Given the description of an element on the screen output the (x, y) to click on. 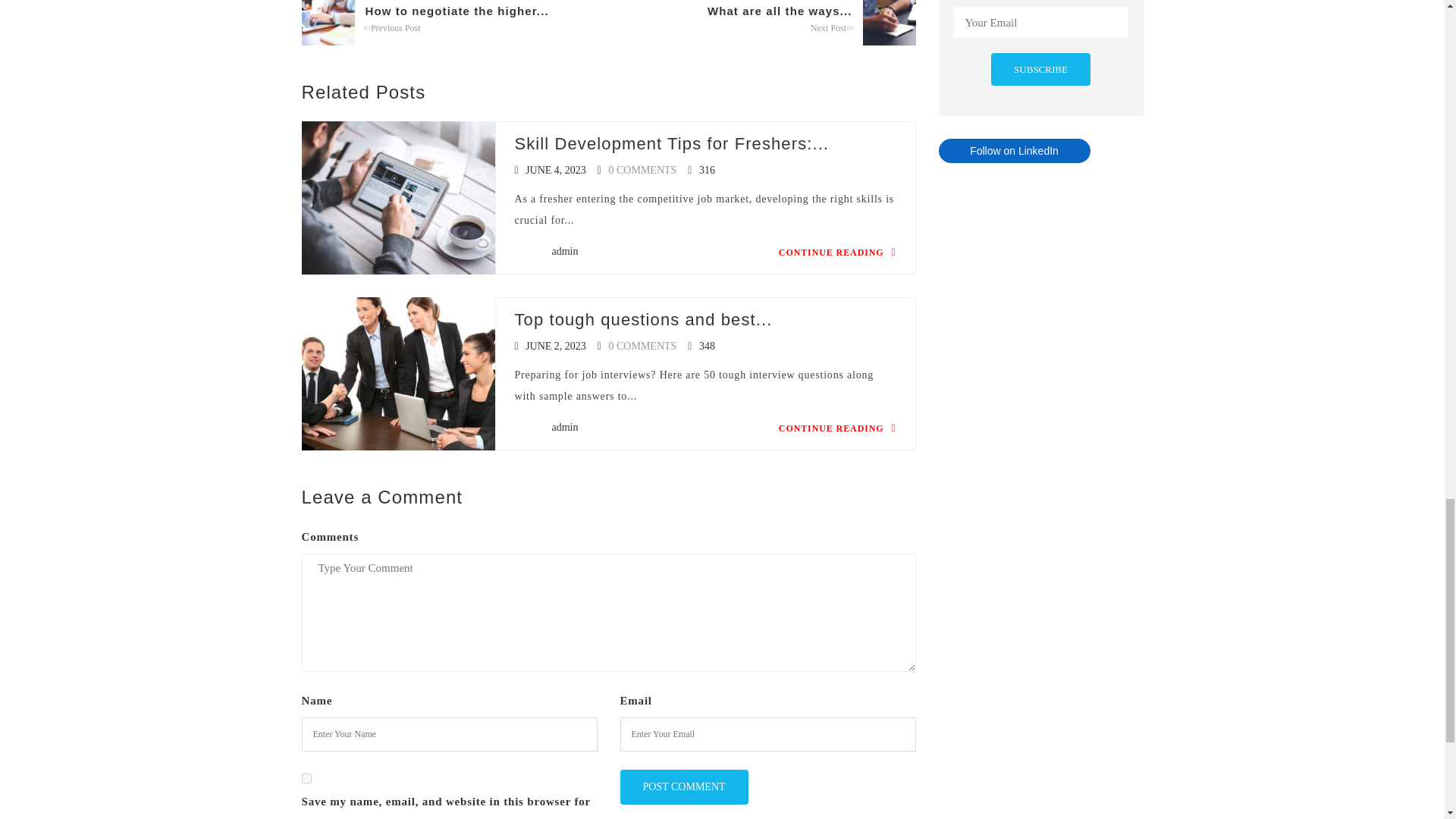
yes (306, 777)
Post Comment (684, 786)
Subscribe (1040, 69)
